Given the description of an element on the screen output the (x, y) to click on. 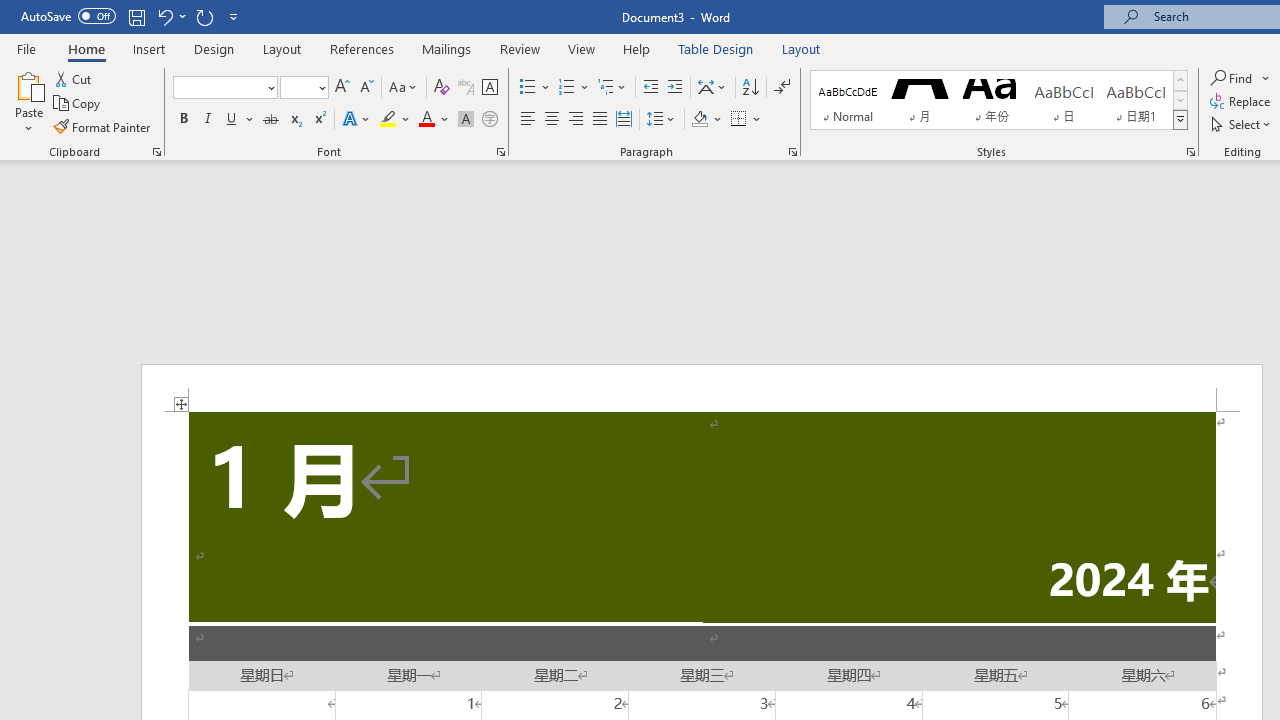
Show/Hide Editing Marks (781, 87)
Superscript (319, 119)
Align Left (527, 119)
Strikethrough (270, 119)
Grow Font (342, 87)
Distributed (623, 119)
Paragraph... (792, 151)
Undo Distribute Para (170, 15)
Font Color (434, 119)
Decrease Indent (650, 87)
